Given the description of an element on the screen output the (x, y) to click on. 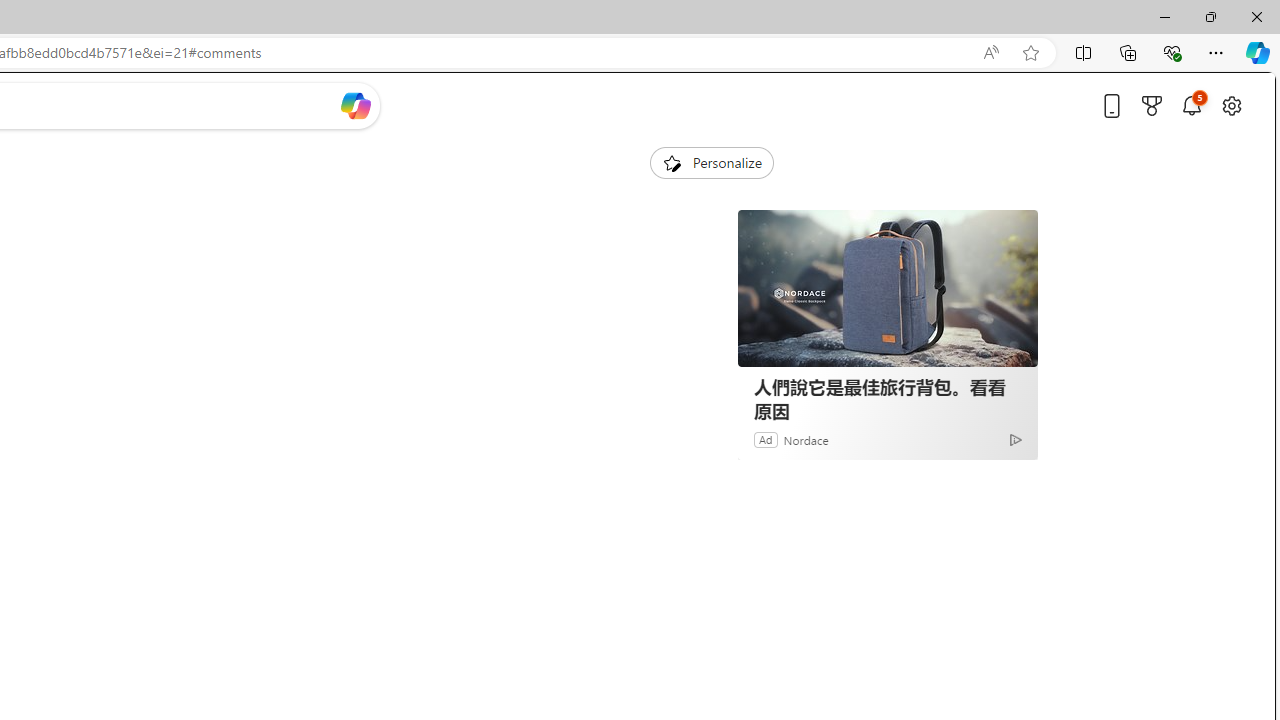
Personalize (711, 162)
